Given the description of an element on the screen output the (x, y) to click on. 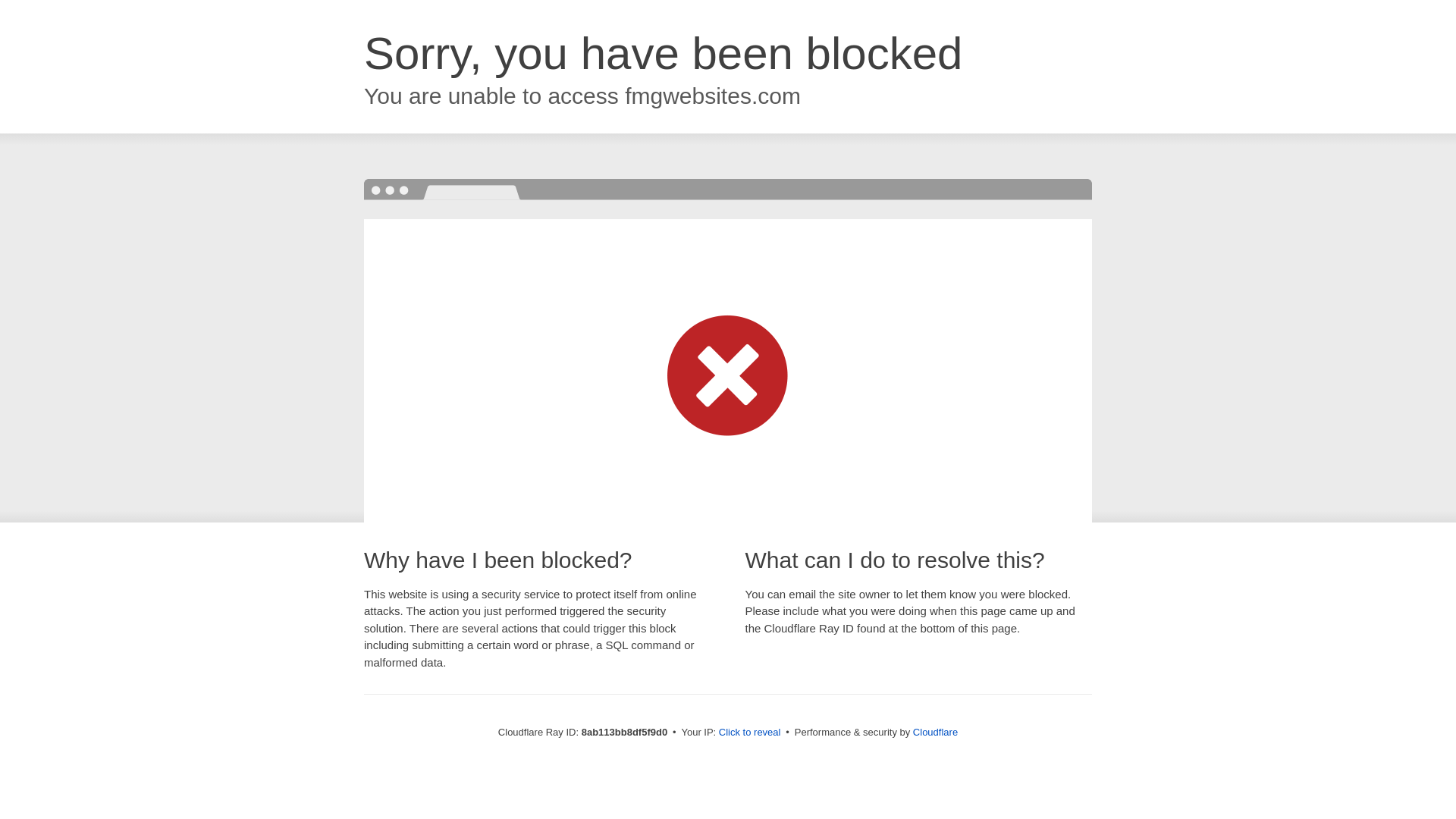
Cloudflare (935, 731)
Click to reveal (749, 732)
